Given the description of an element on the screen output the (x, y) to click on. 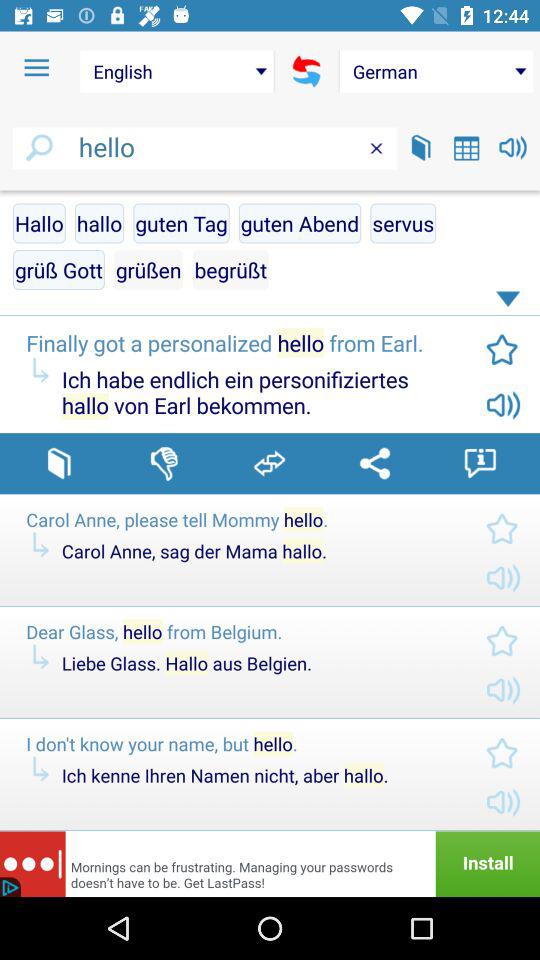
open dates (466, 148)
